Given the description of an element on the screen output the (x, y) to click on. 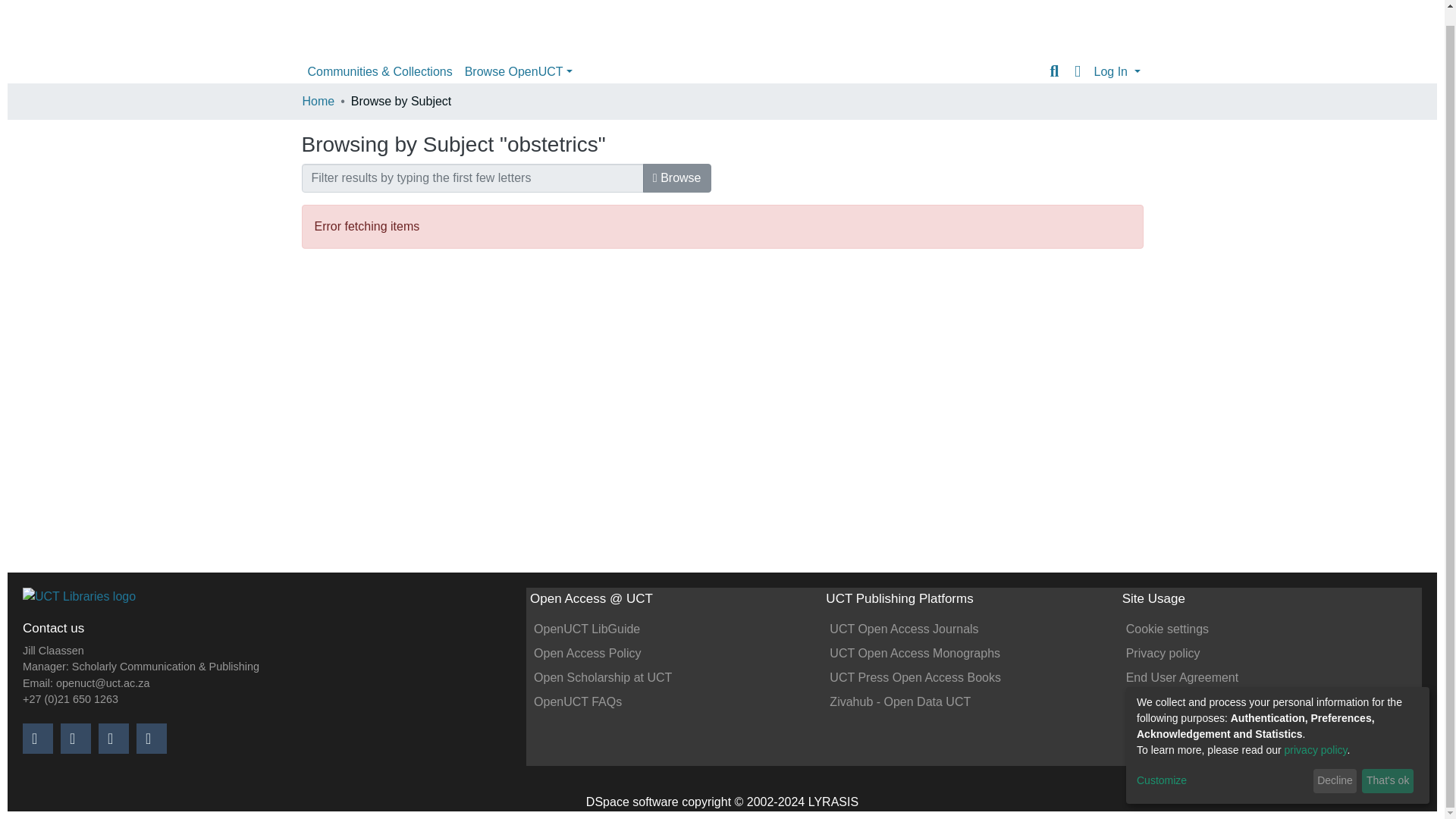
OpenUCT LibGuide (587, 628)
Language switch (1077, 72)
Zivahub - Open Data UCT (900, 701)
Home (317, 101)
Home (79, 603)
Cookie settings (1166, 628)
Decline (1334, 765)
privacy policy (1316, 734)
OpenUCT FAQs (577, 701)
Log In (1116, 71)
Browse OpenUCT (518, 71)
Send Feedback (1168, 701)
Browse (677, 177)
That's ok (1387, 765)
Privacy policy (1162, 653)
